Given the description of an element on the screen output the (x, y) to click on. 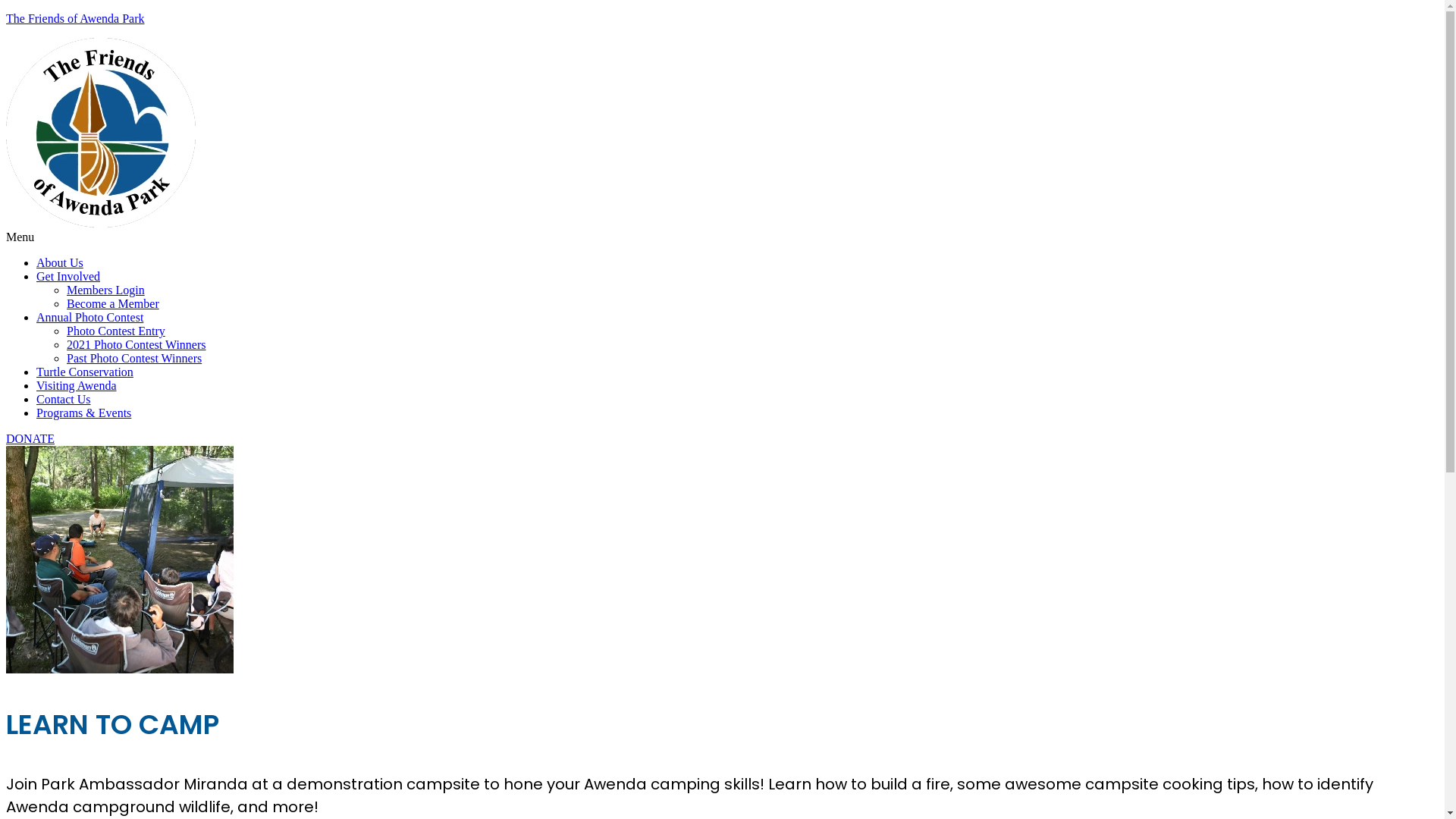
Annual Photo Contest Element type: text (89, 316)
DONATE Element type: text (30, 438)
Past Photo Contest Winners Element type: text (133, 357)
The Friends of Awenda Park Element type: text (75, 18)
Contact Us Element type: text (63, 398)
2021 Photo Contest Winners Element type: text (136, 344)
Visiting Awenda Element type: text (76, 385)
Members Login Element type: text (105, 289)
Get Involved Element type: text (68, 275)
Programs & Events Element type: text (83, 412)
Turtle Conservation Element type: text (84, 371)
About Us Element type: text (59, 262)
Become a Member Element type: text (112, 303)
Photo Contest Entry Element type: text (115, 330)
